Given the description of an element on the screen output the (x, y) to click on. 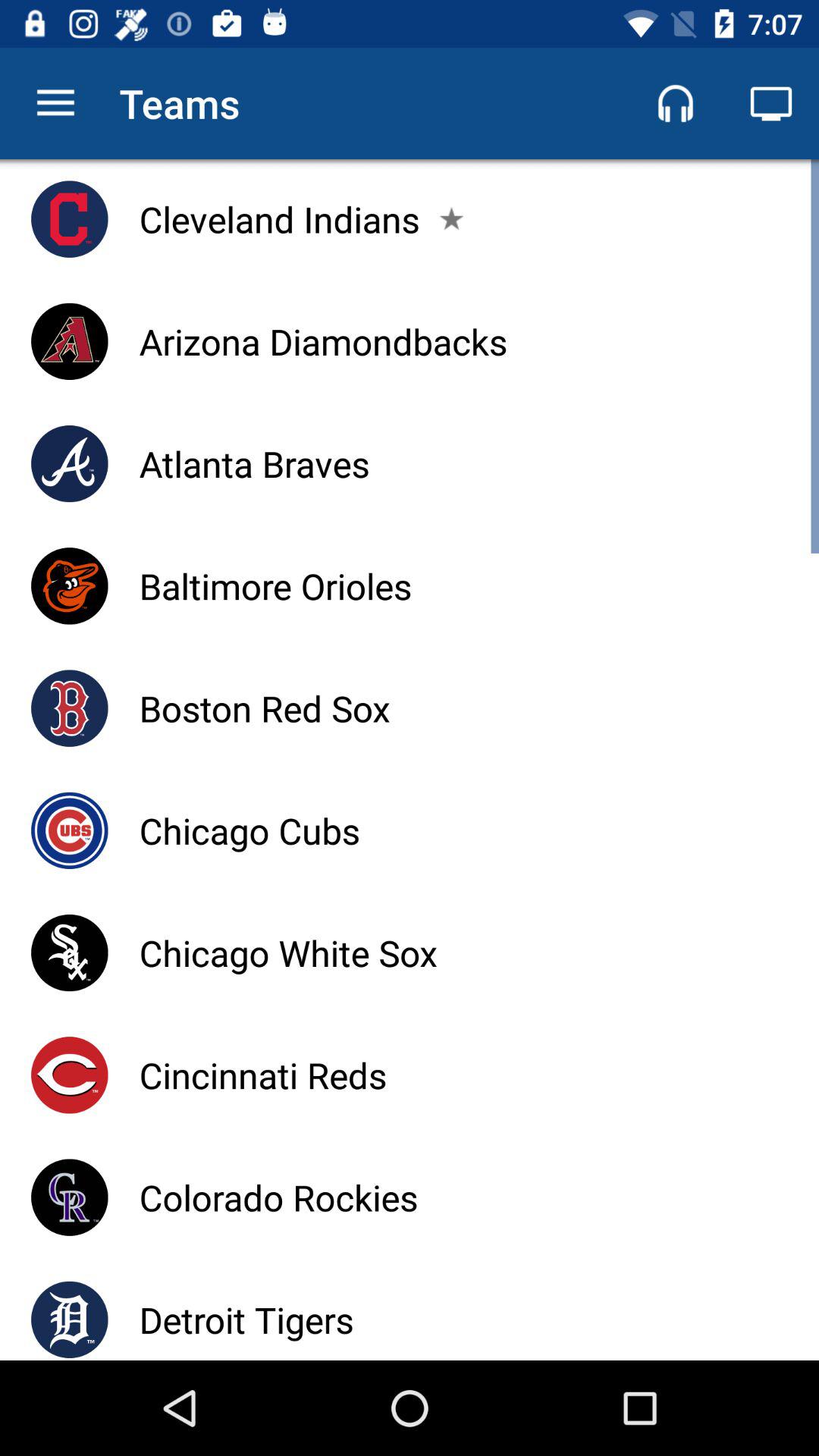
turn on the icon next to the teams app (55, 103)
